Given the description of an element on the screen output the (x, y) to click on. 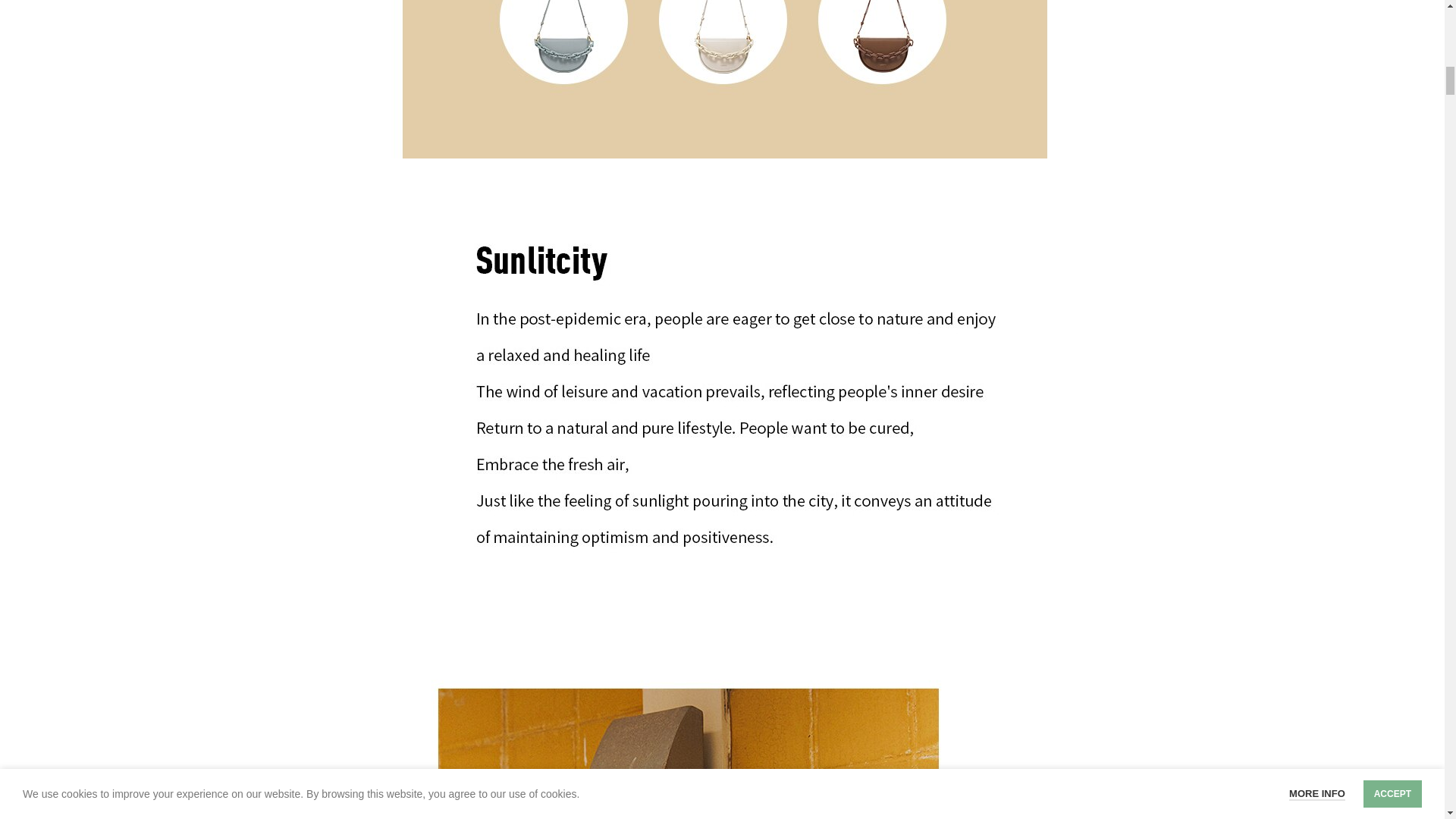
La Festin Designer Semi-circle Flavours (721, 79)
